Given the description of an element on the screen output the (x, y) to click on. 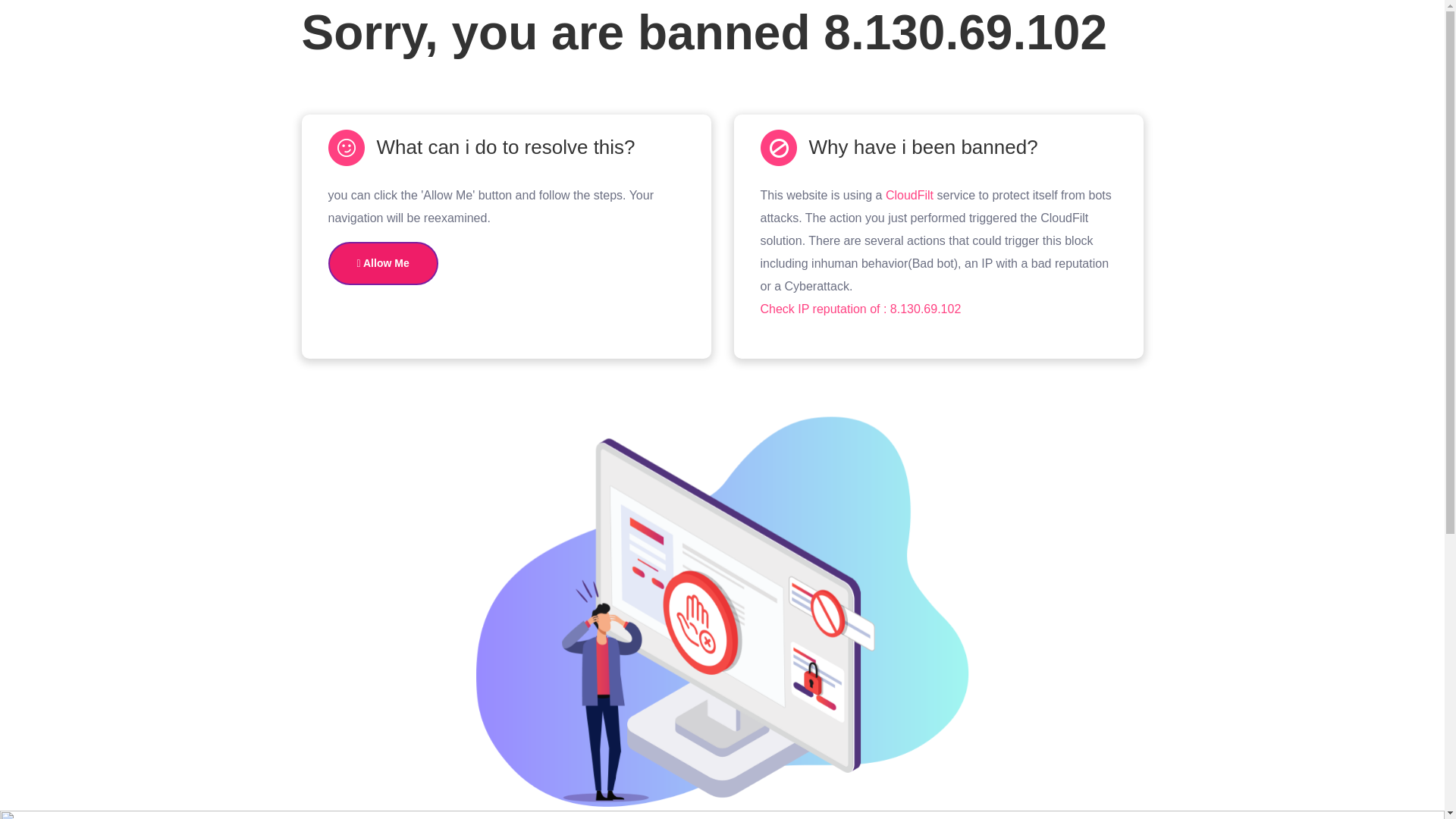
Check IP reputation of : 8.130.69.102 (860, 308)
CloudFilt (909, 195)
Allow Me (382, 263)
